Given the description of an element on the screen output the (x, y) to click on. 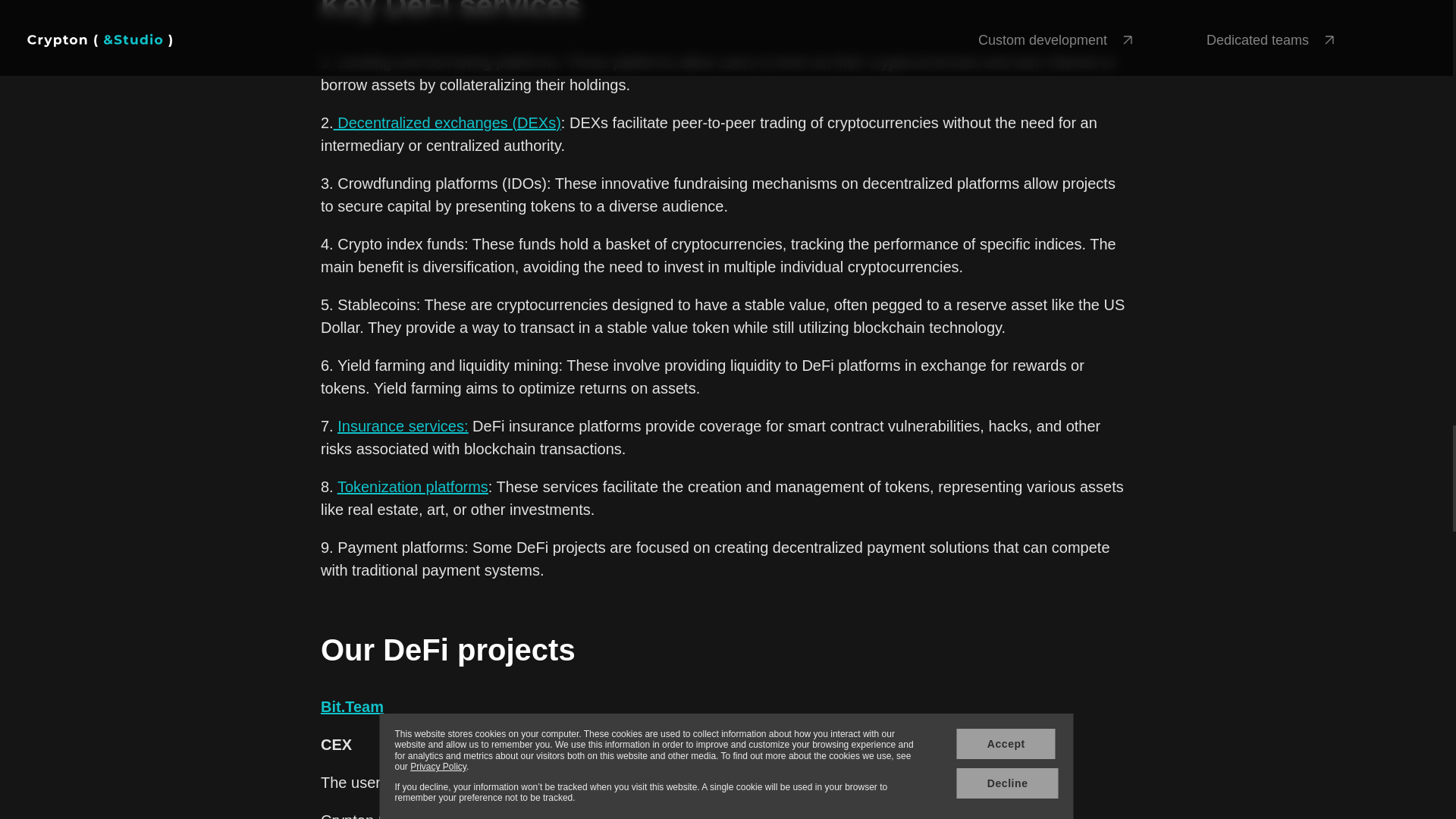
Tokenization platforms (412, 486)
Bit.Team (352, 706)
Insurance services: (402, 425)
